Given the description of an element on the screen output the (x, y) to click on. 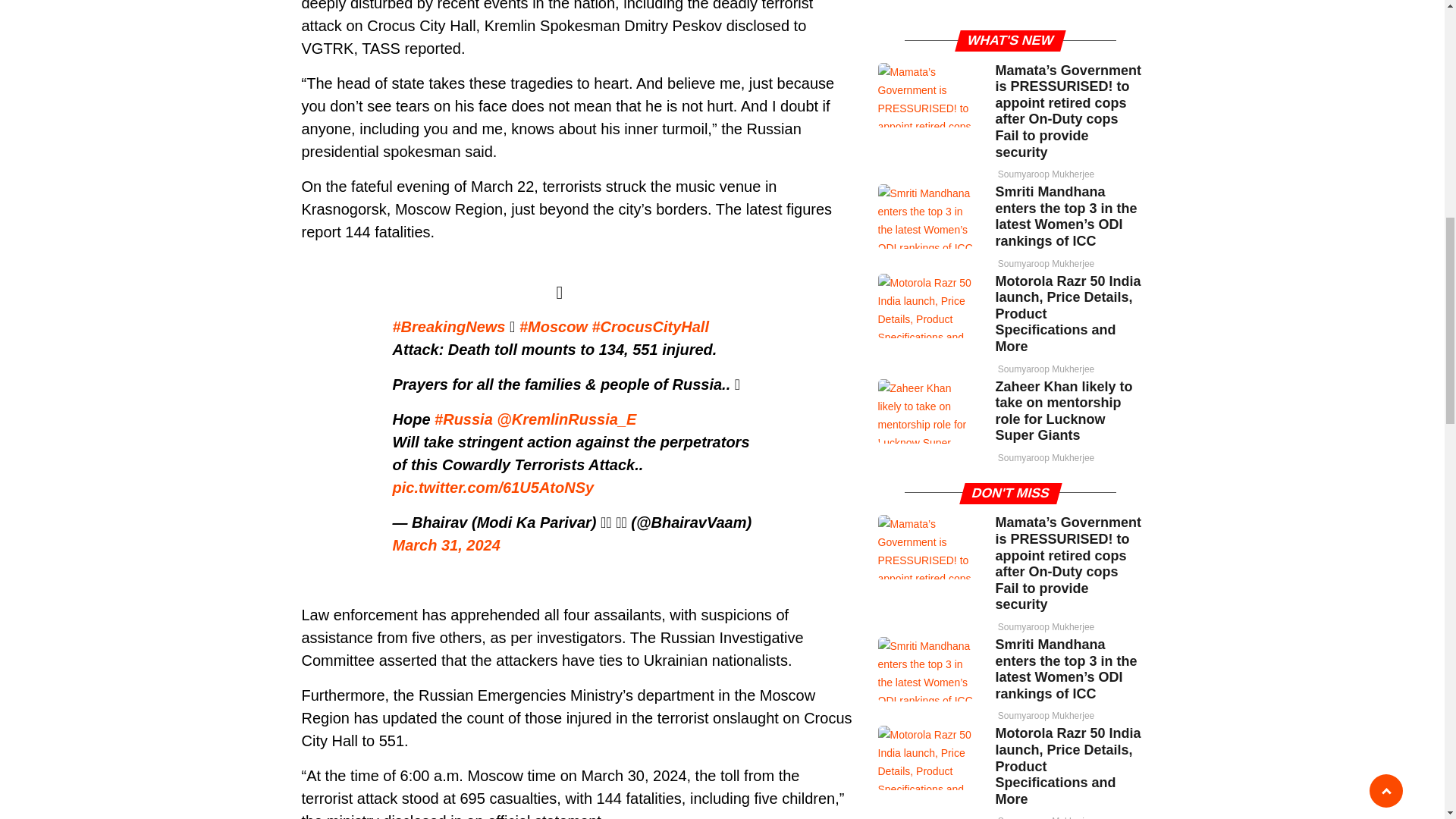
March 31, 2024 (446, 545)
